Given the description of an element on the screen output the (x, y) to click on. 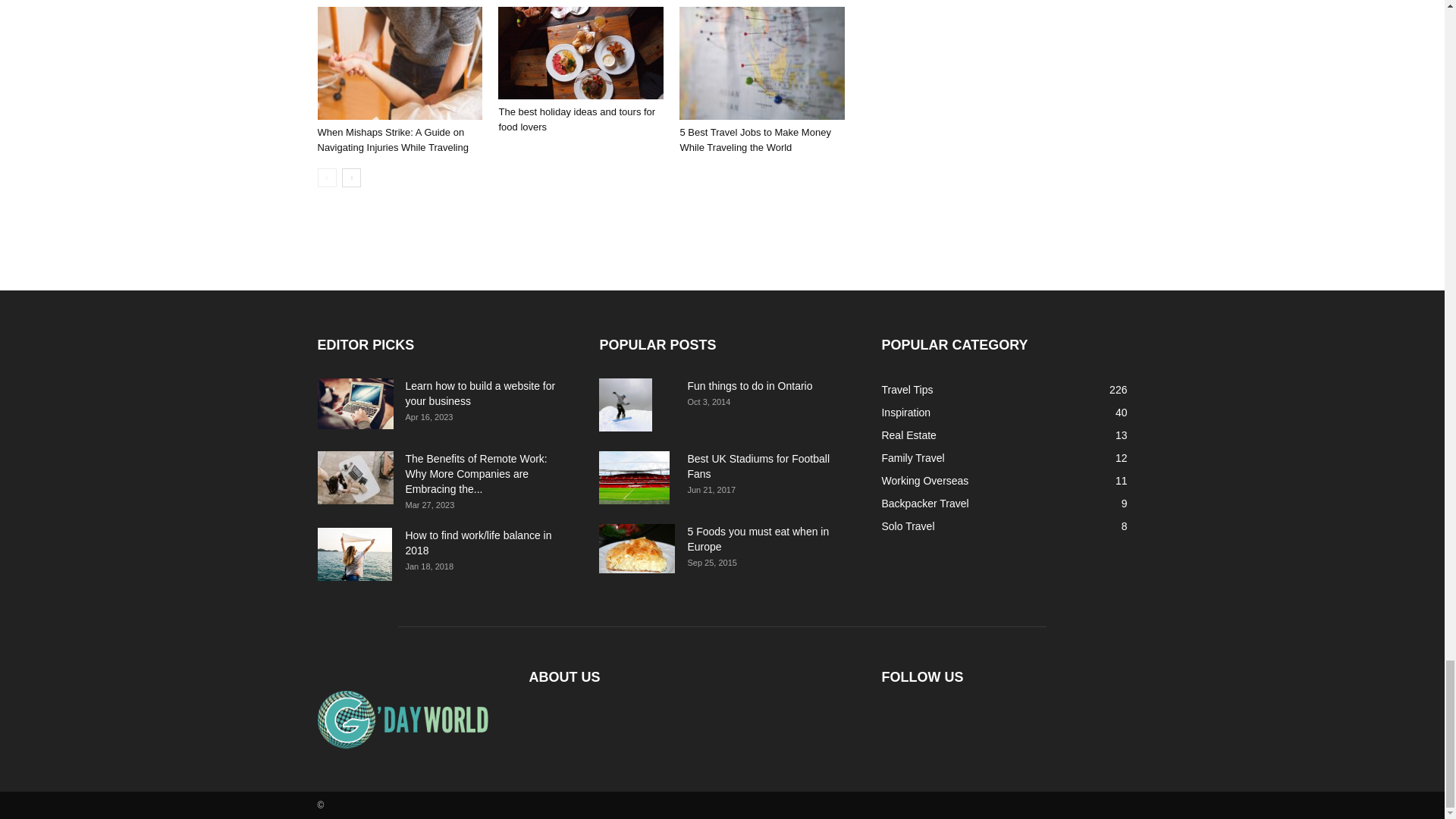
Learn how to build a website for your business (355, 403)
Learn how to build a website for your business (479, 393)
The best holiday ideas and tours for food lovers (580, 51)
The best holiday ideas and tours for food lovers (576, 119)
5 Best Travel Jobs to Make Money While Traveling the World (761, 62)
5 Best Travel Jobs to Make Money While Traveling the World (754, 139)
